Given the description of an element on the screen output the (x, y) to click on. 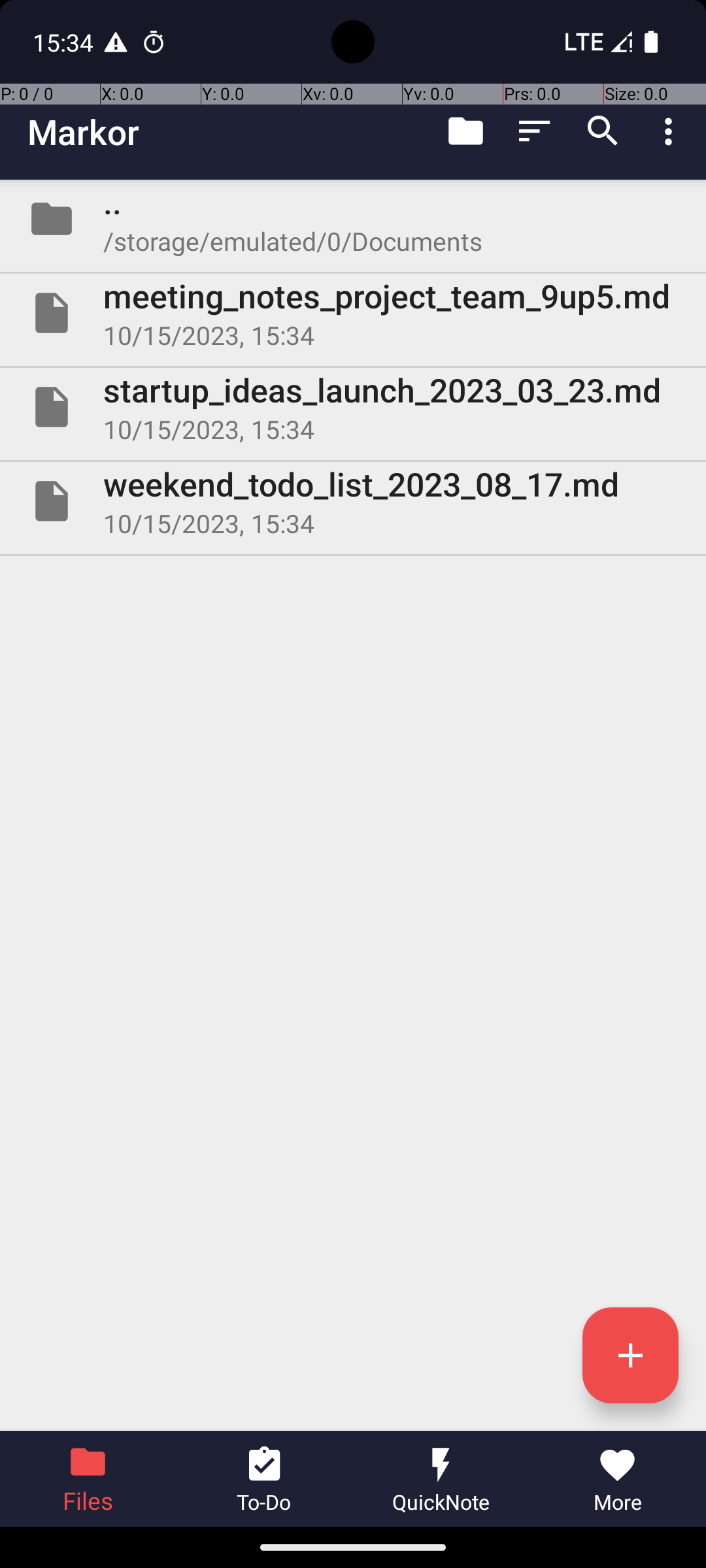
File meeting_notes_project_team_9up5.md  Element type: android.widget.LinearLayout (353, 312)
File startup_ideas_launch_2023_03_23.md  Element type: android.widget.LinearLayout (353, 406)
File weekend_todo_list_2023_08_17.md  Element type: android.widget.LinearLayout (353, 500)
